Given the description of an element on the screen output the (x, y) to click on. 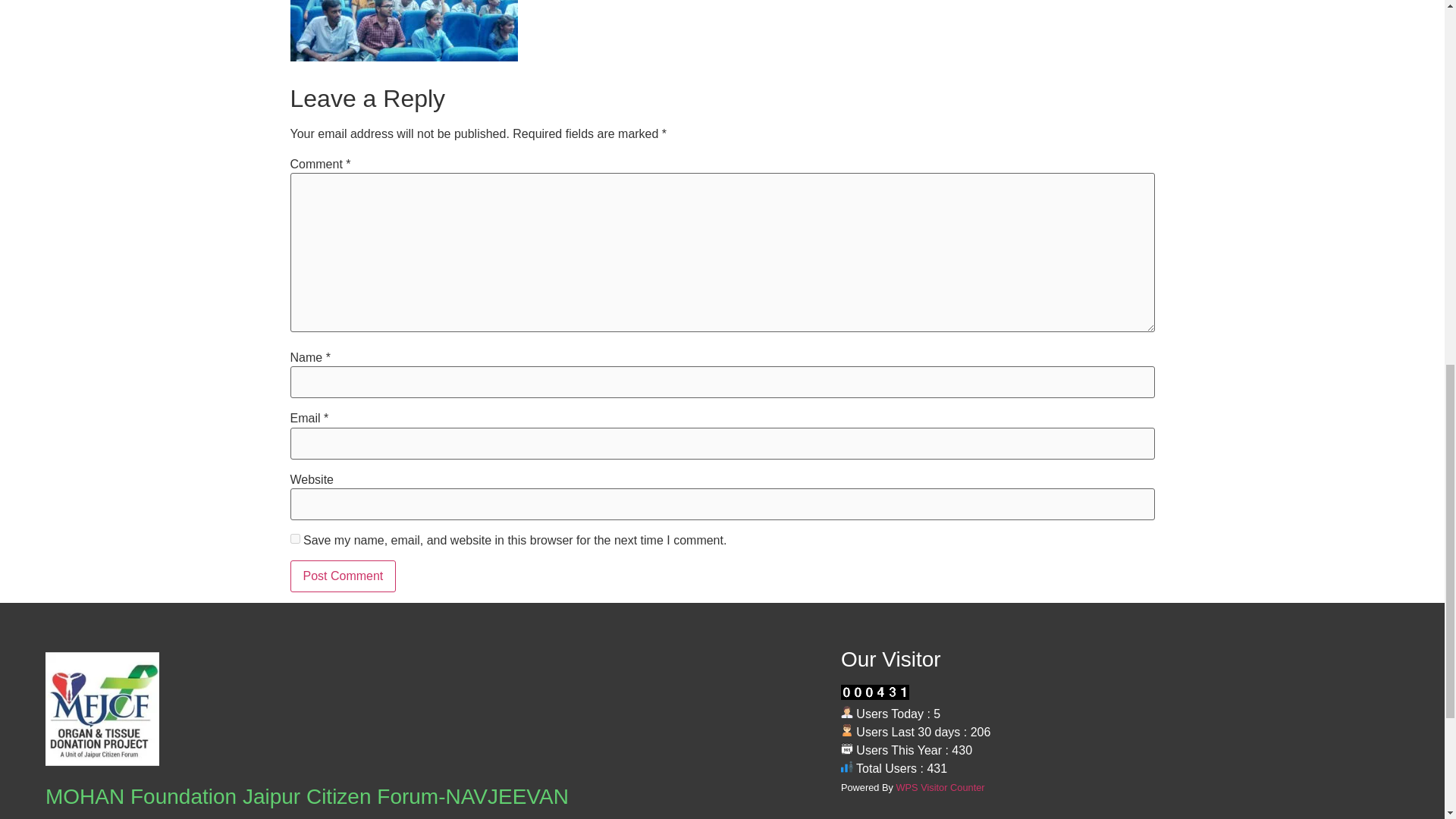
Post Comment (342, 576)
yes (294, 538)
